Given the description of an element on the screen output the (x, y) to click on. 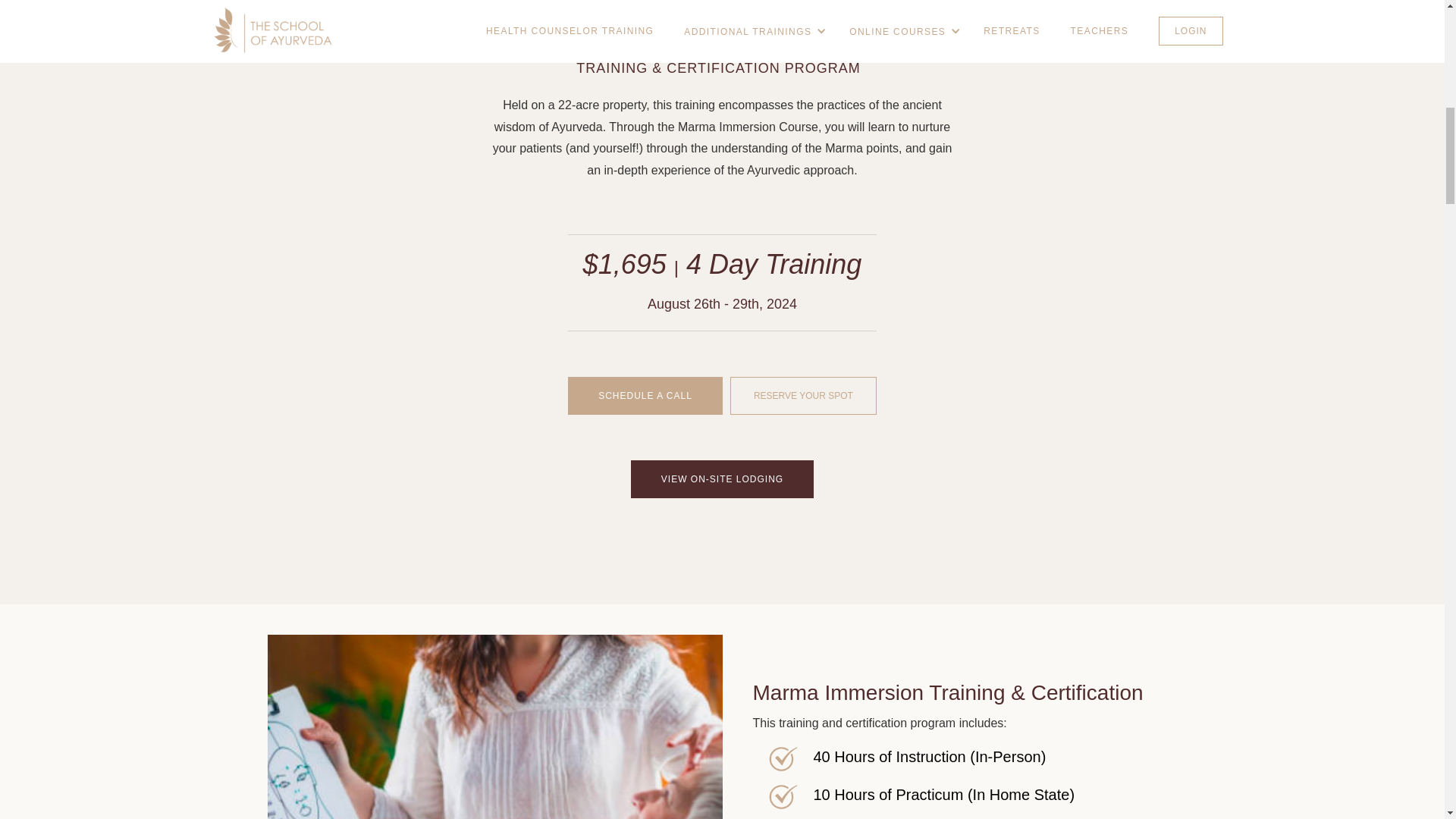
VIEW ON-SITE LODGING (721, 478)
RESERVE YOUR SPOT (803, 395)
SCHEDULE A CALL (644, 395)
